Given the description of an element on the screen output the (x, y) to click on. 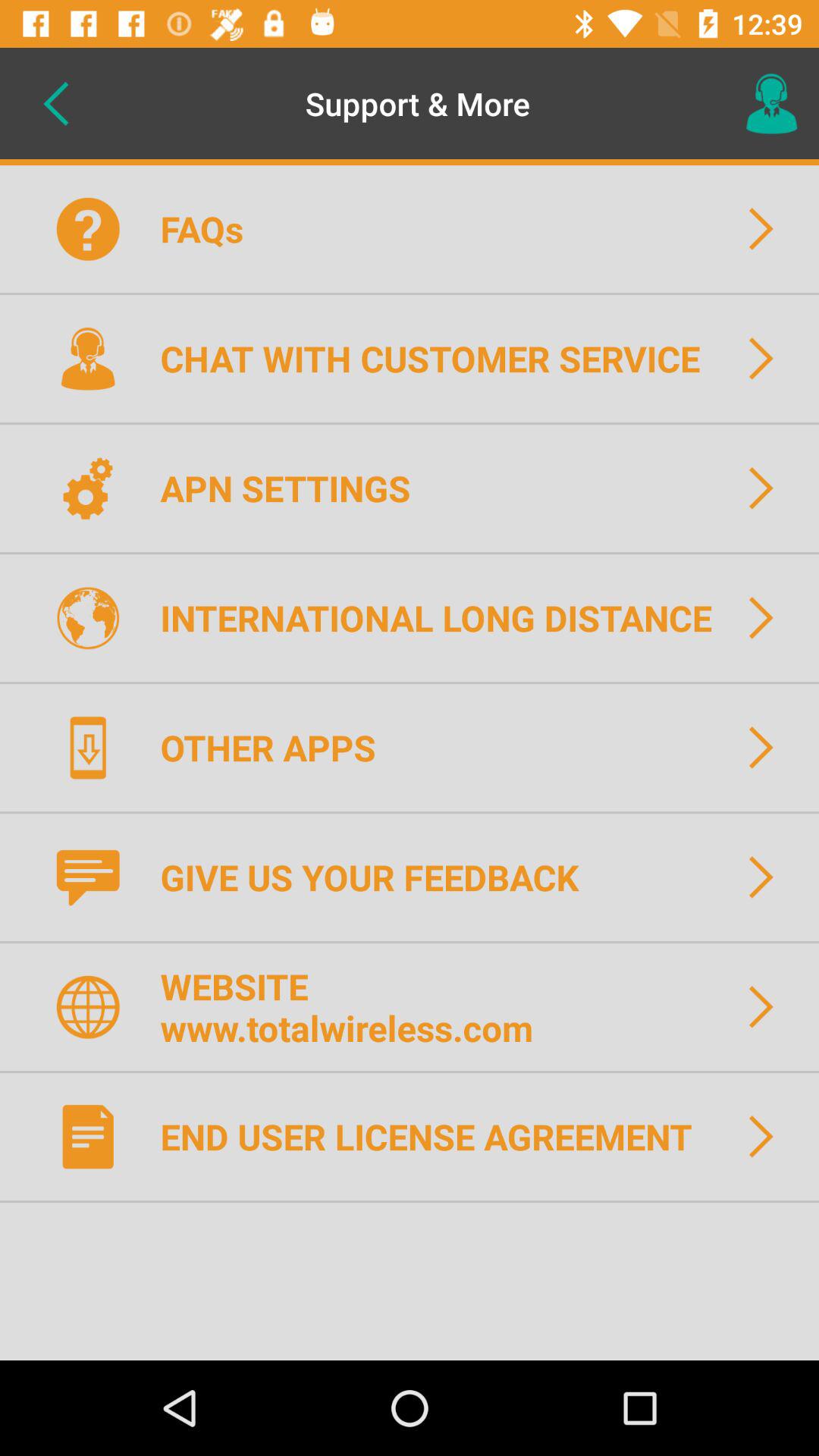
scroll until end user license icon (435, 1136)
